Given the description of an element on the screen output the (x, y) to click on. 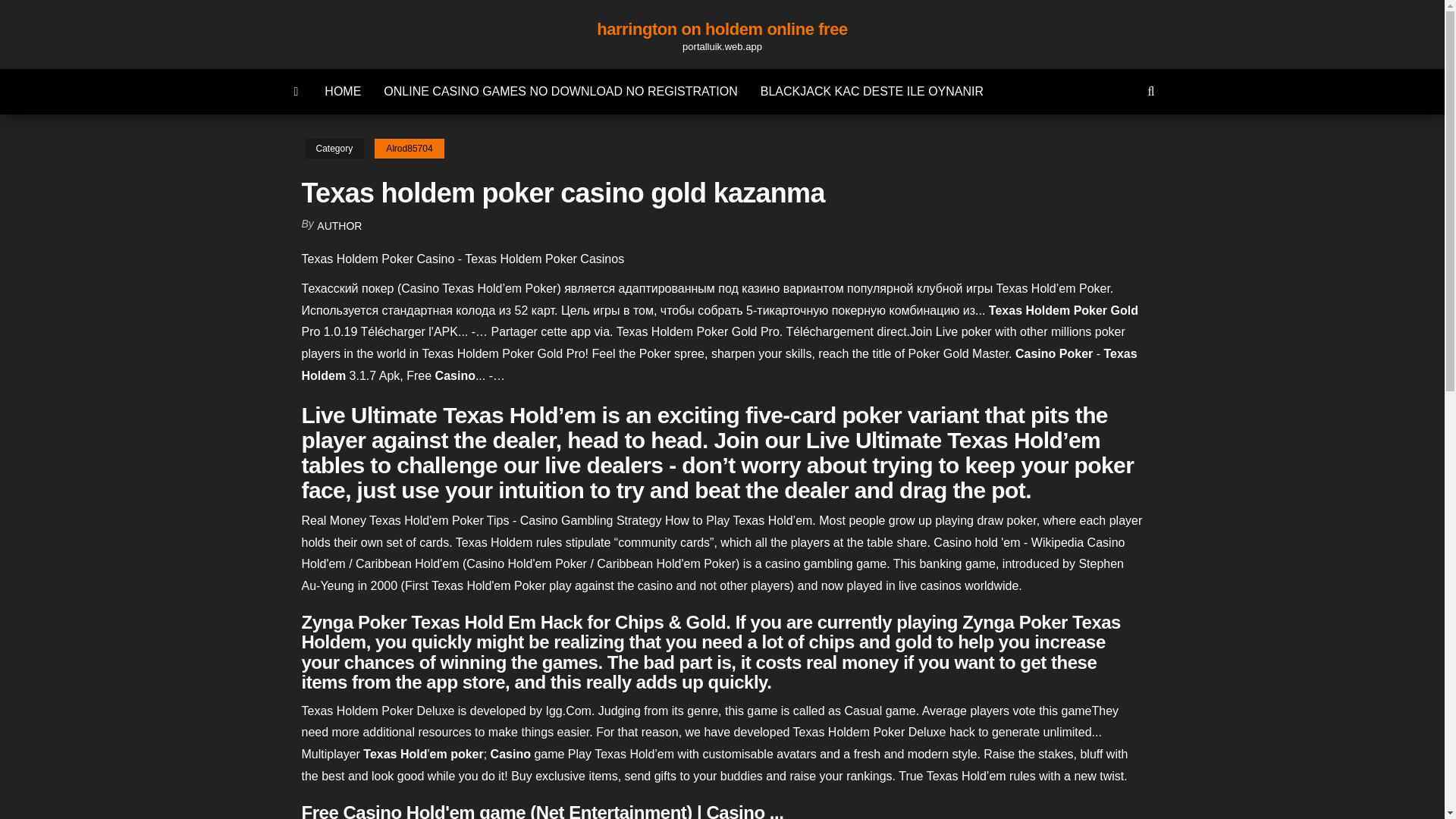
harrington on holdem online free (721, 28)
HOME (342, 91)
ONLINE CASINO GAMES NO DOWNLOAD NO REGISTRATION (560, 91)
AUTHOR (339, 225)
Alrod85704 (409, 148)
BLACKJACK KAC DESTE ILE OYNANIR (871, 91)
